Given the description of an element on the screen output the (x, y) to click on. 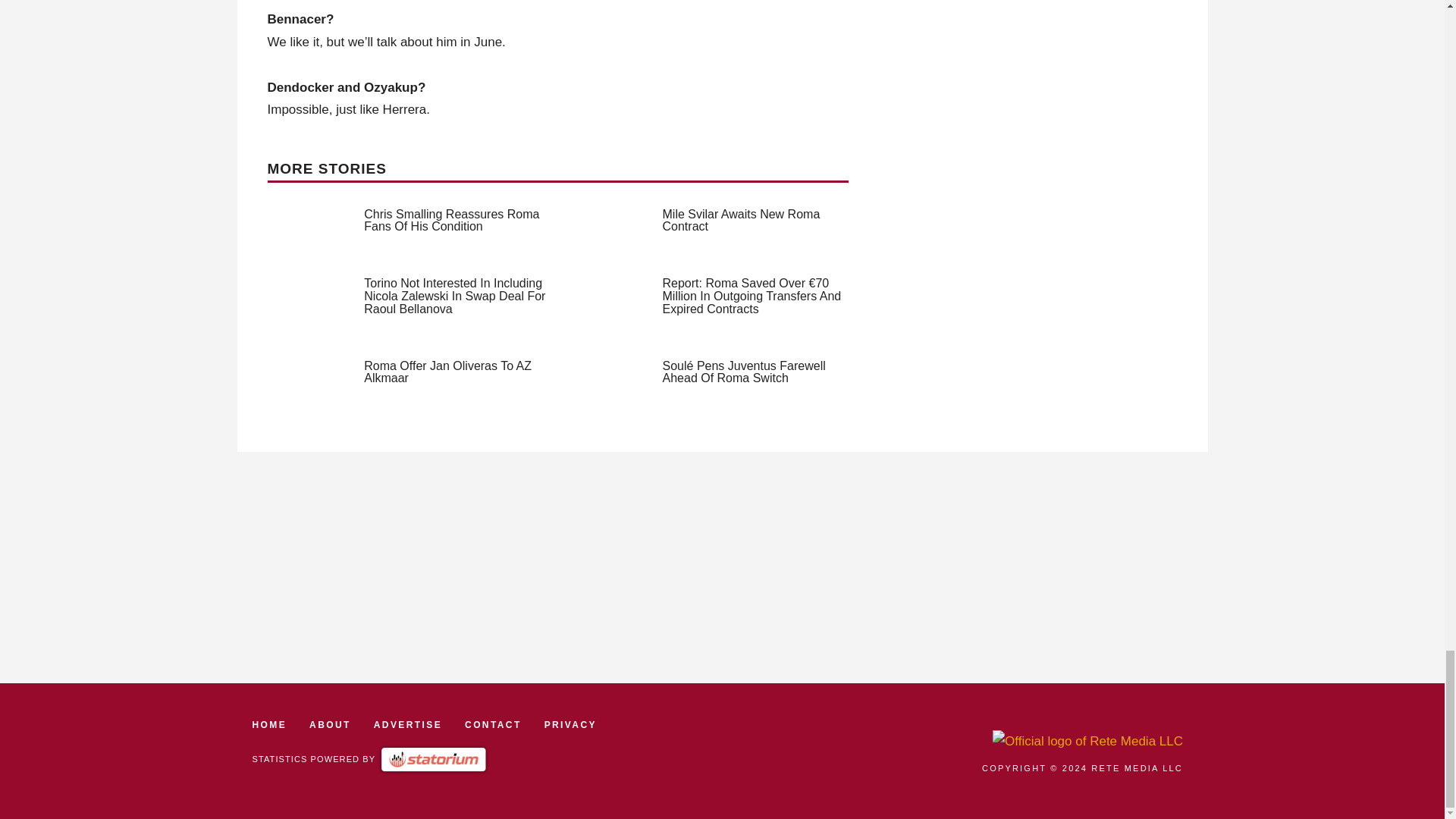
ADVERTISE (408, 725)
Chris Smalling Reassures Roma Fans Of His Condition (451, 220)
CONTACT (492, 725)
ABOUT (329, 725)
Mile Svilar Awaits New Roma Contract (741, 220)
Roma Offer Jan Oliveras To AZ Alkmaar (447, 371)
PRIVACY (570, 725)
HOME (268, 725)
